Given the description of an element on the screen output the (x, y) to click on. 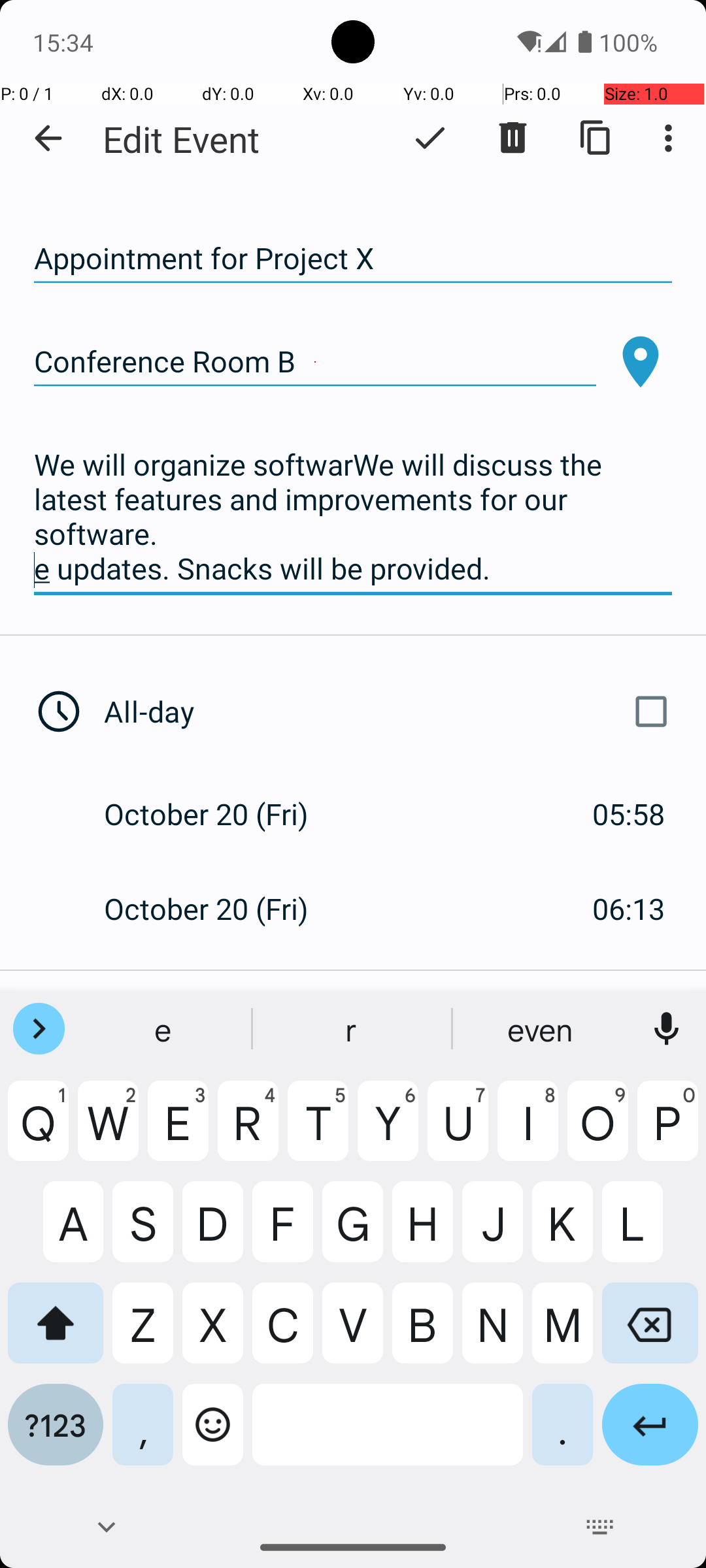
Conference Room B Element type: android.widget.EditText (314, 361)
We will organize softwarWe will discuss the latest features and improvements for our software.
e updates. Snacks will be provided. Element type: android.widget.EditText (352, 516)
October 20 (Fri) Element type: android.widget.TextView (219, 813)
05:58 Element type: android.widget.TextView (628, 813)
06:13 Element type: android.widget.TextView (628, 908)
even Element type: android.widget.FrameLayout (541, 1028)
